Given the description of an element on the screen output the (x, y) to click on. 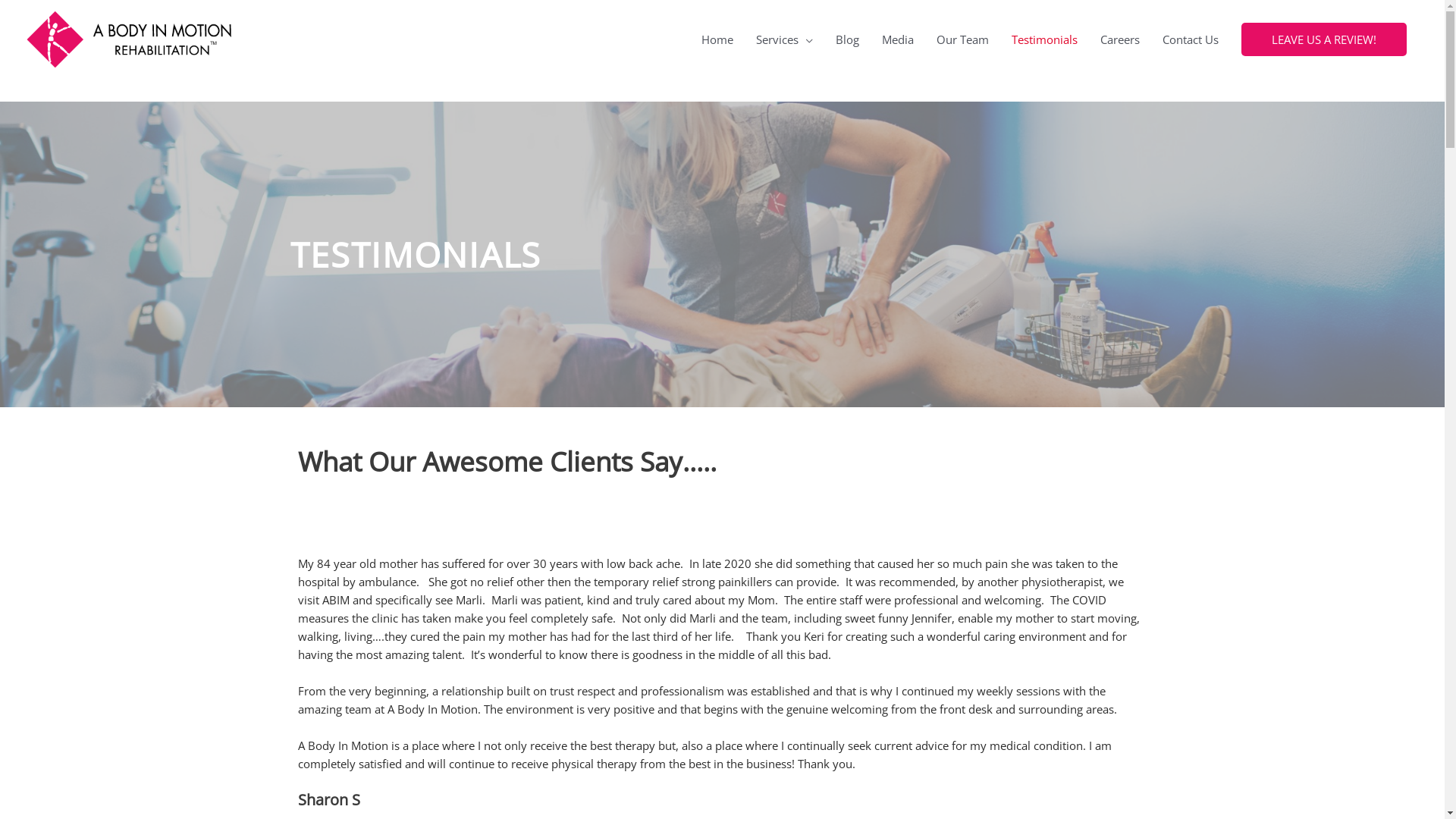
Home Element type: text (717, 39)
Our Team Element type: text (962, 39)
Careers Element type: text (1119, 39)
Media Element type: text (897, 39)
Contact Us Element type: text (1190, 39)
LEAVE US A REVIEW! Element type: text (1323, 39)
Testimonials Element type: text (1044, 39)
Blog Element type: text (847, 39)
Services Element type: text (784, 39)
